Given the description of an element on the screen output the (x, y) to click on. 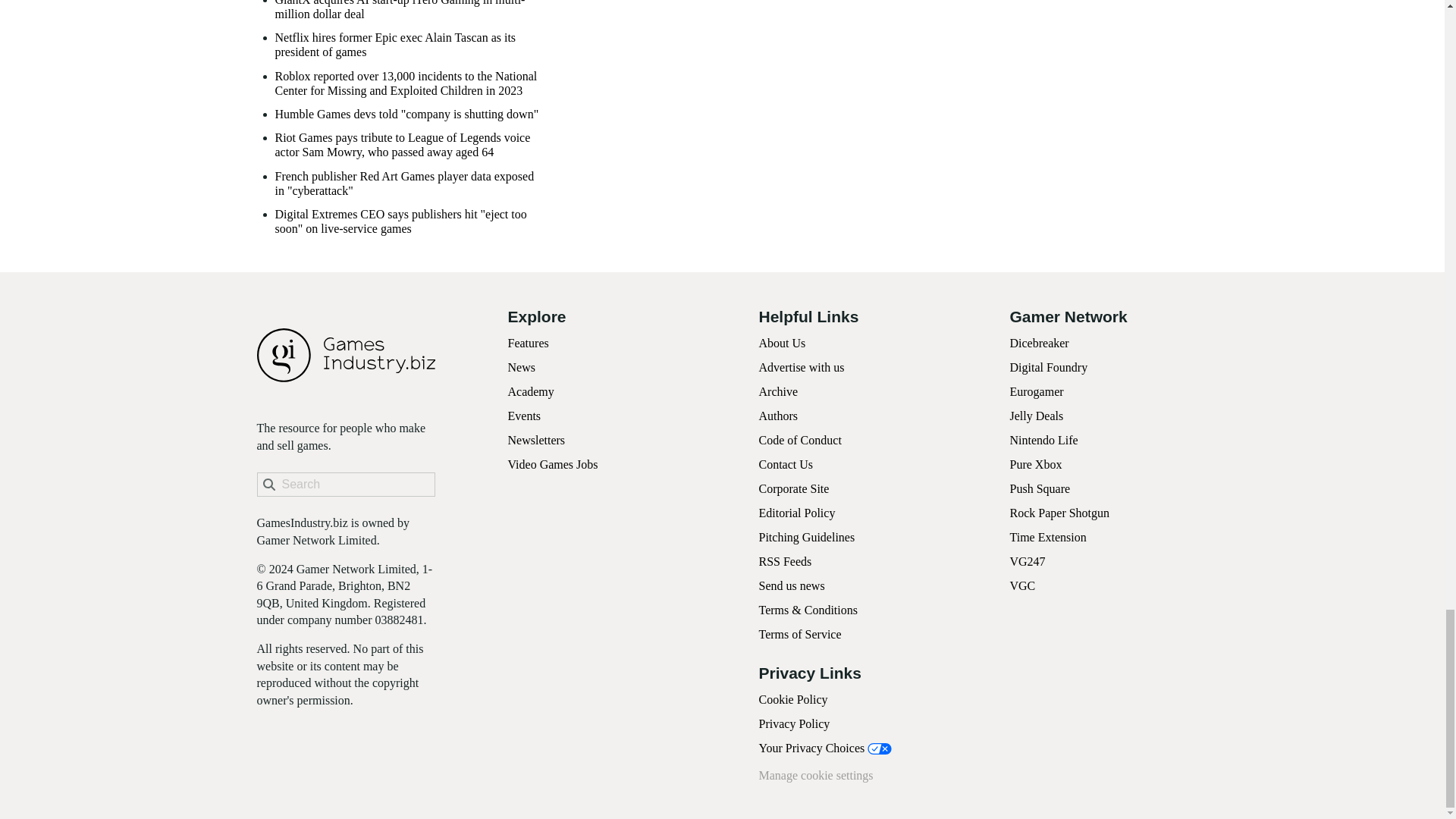
Advertise with us (801, 367)
Events (524, 415)
Archive (777, 391)
Video Games Jobs (553, 463)
News (521, 367)
Newsletters (537, 440)
About Us (781, 342)
Features (528, 342)
Academy (531, 391)
